Given the description of an element on the screen output the (x, y) to click on. 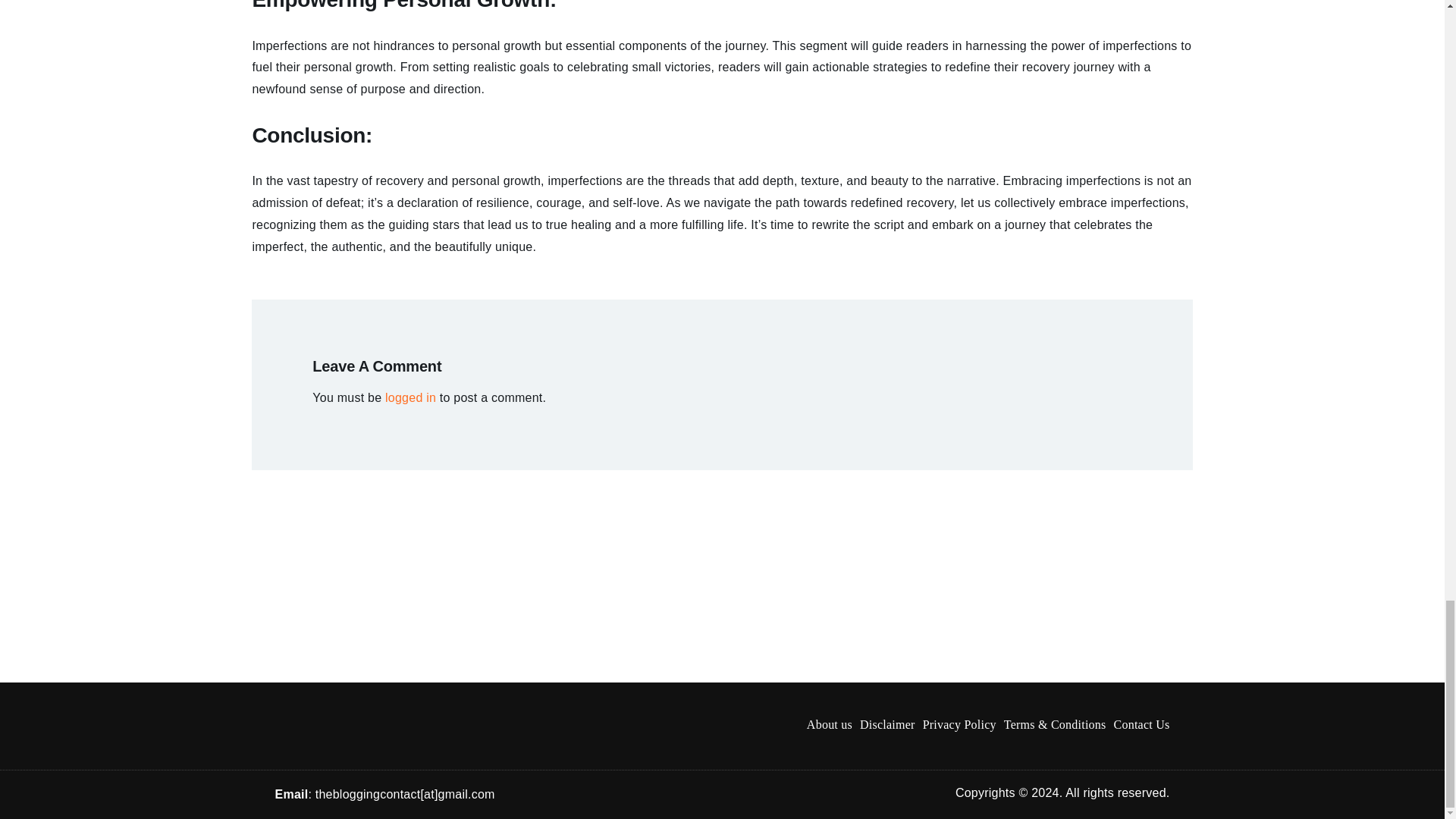
logged in (410, 397)
About us (828, 725)
how-build-body-footer (383, 724)
